Given the description of an element on the screen output the (x, y) to click on. 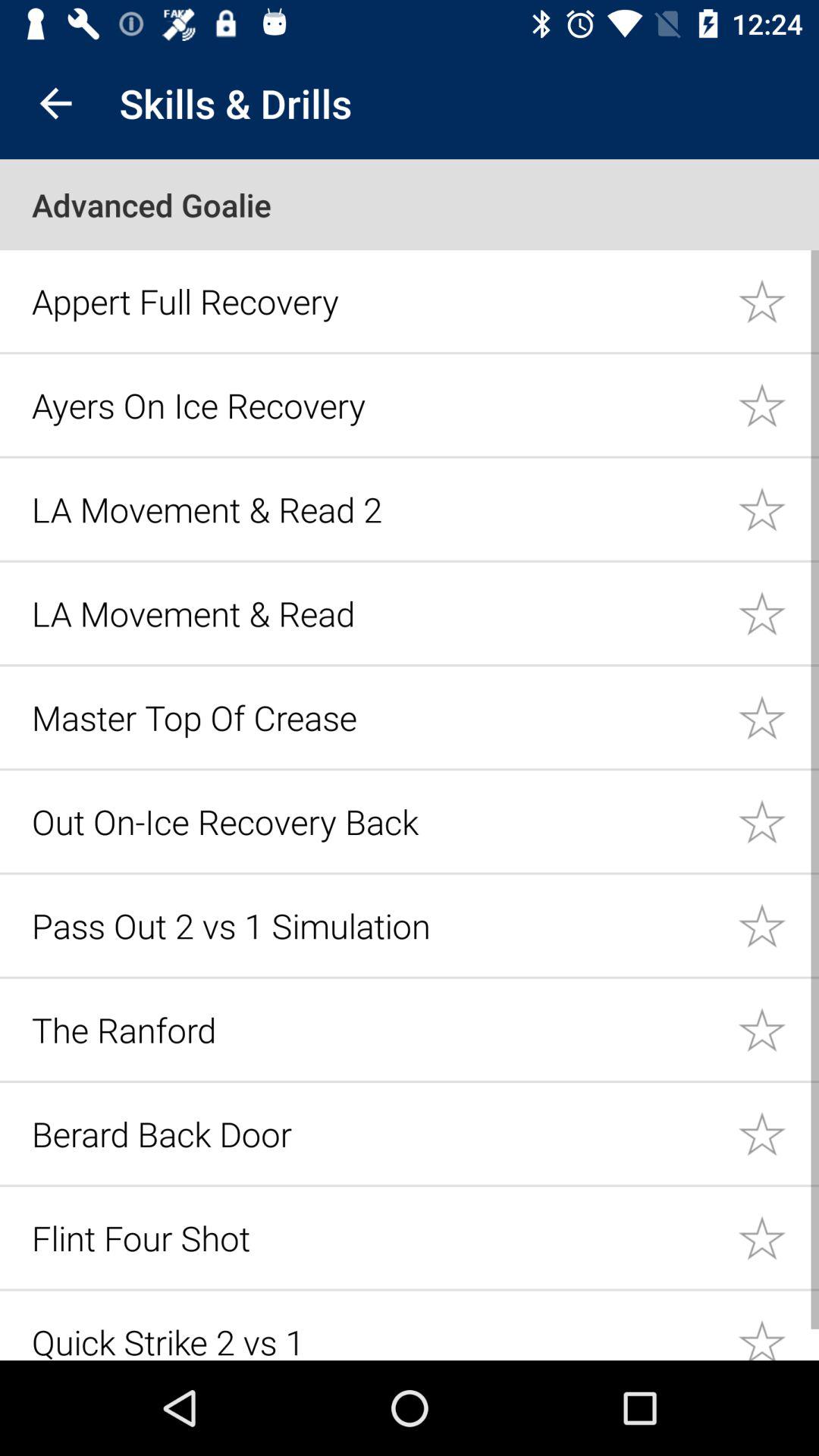
star the item (778, 1029)
